Given the description of an element on the screen output the (x, y) to click on. 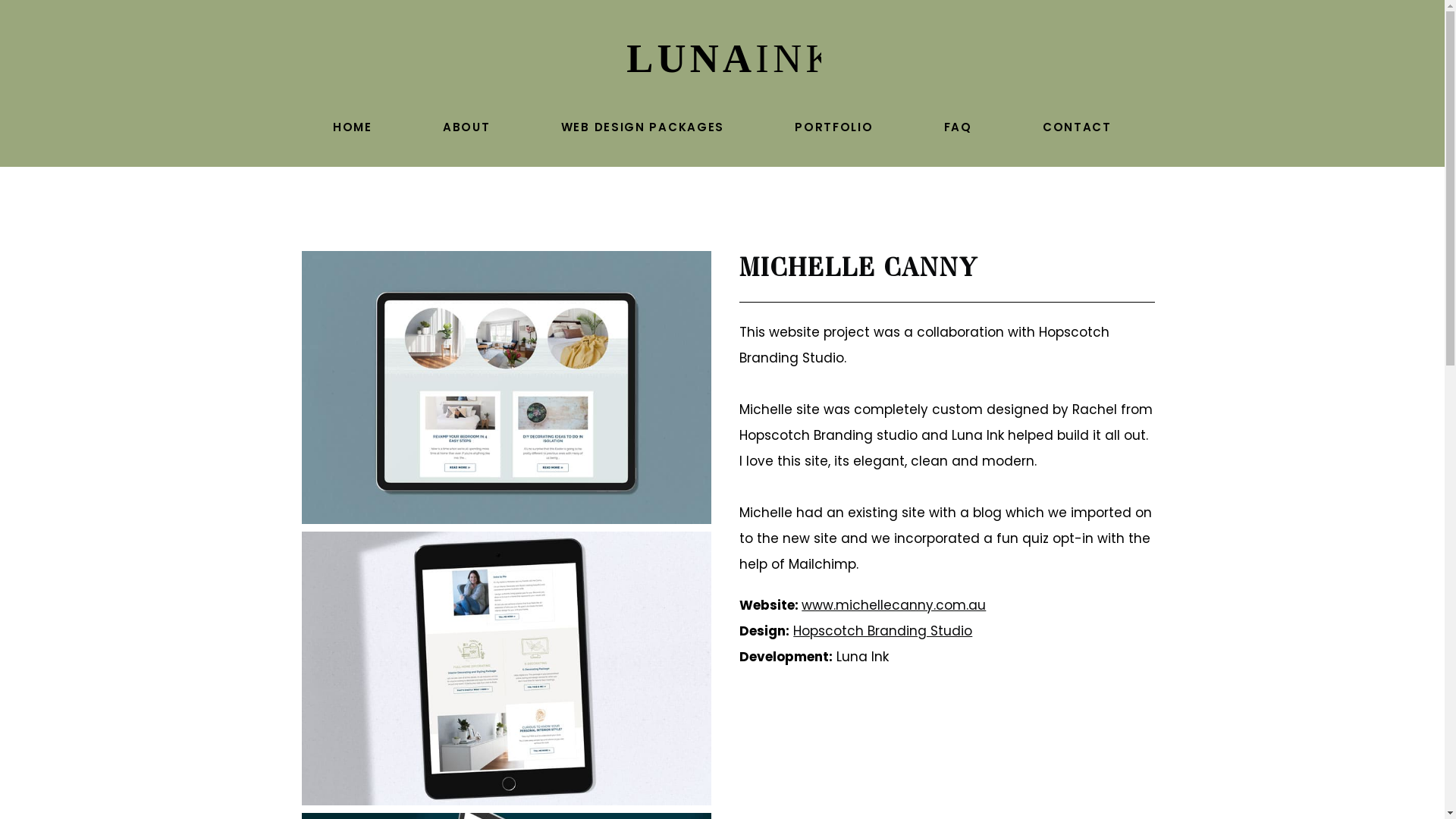
HOME Element type: text (352, 126)
Hopscotch Branding Studio Element type: text (882, 630)
www.michellecanny.com.au Element type: text (893, 605)
PORTFOLIO Element type: text (833, 126)
FAQ Element type: text (957, 126)
CONTACT Element type: text (1076, 126)
ABOUT Element type: text (466, 126)
WEB DESIGN PACKAGES Element type: text (642, 126)
